Given the description of an element on the screen output the (x, y) to click on. 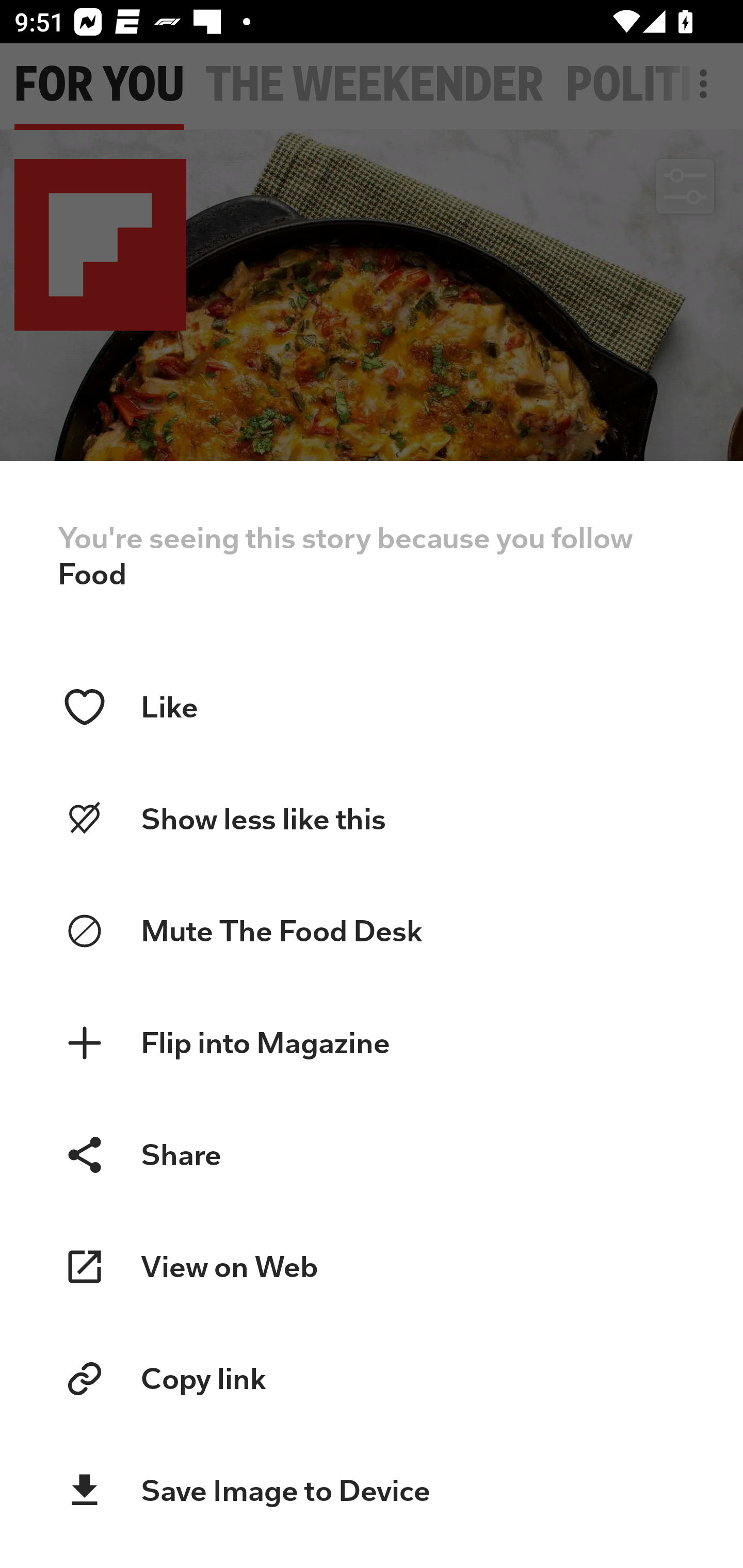
Like (371, 706)
Show less like this (371, 818)
Mute The Food Desk (371, 930)
Flip into Magazine (371, 1043)
Share (371, 1154)
View on Web (371, 1266)
Copy link (371, 1378)
Save Image to Device (371, 1490)
